Given the description of an element on the screen output the (x, y) to click on. 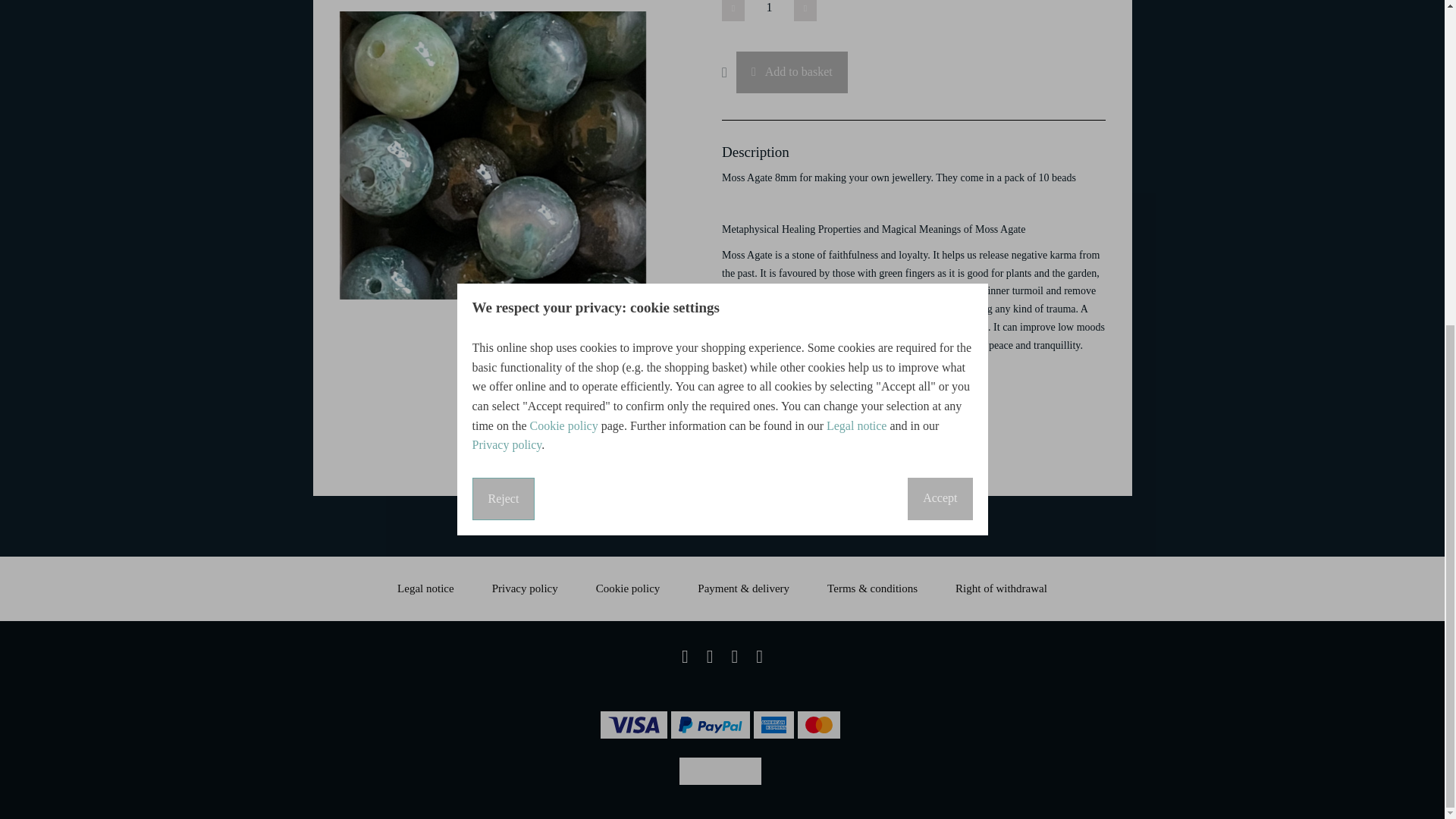
MasterCard (818, 724)
American Express (773, 724)
PayPal (710, 724)
Add to wish list (729, 72)
1 (768, 10)
Visa (633, 724)
